Given the description of an element on the screen output the (x, y) to click on. 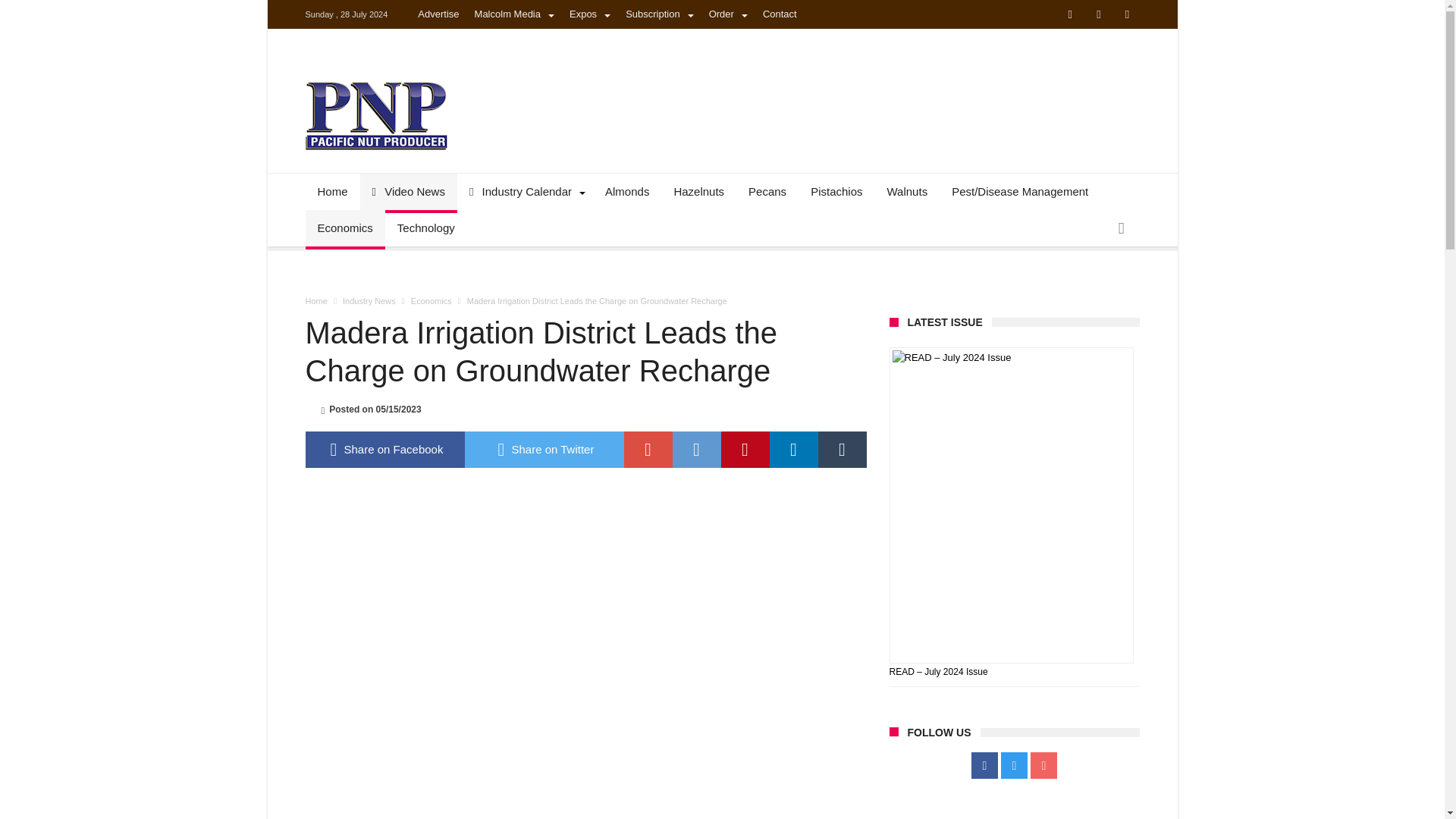
Youtube (1126, 15)
Facebook (1069, 15)
twitter (543, 449)
Pistachios (836, 191)
pinterest (744, 449)
Almonds (626, 191)
Advertise (437, 14)
Subscription (659, 14)
Malcolm Media (514, 14)
Expos (589, 14)
Hazelnuts (698, 191)
Walnuts (907, 191)
Pacific Nut Producer Magazine (375, 81)
facebook (384, 449)
